Given the description of an element on the screen output the (x, y) to click on. 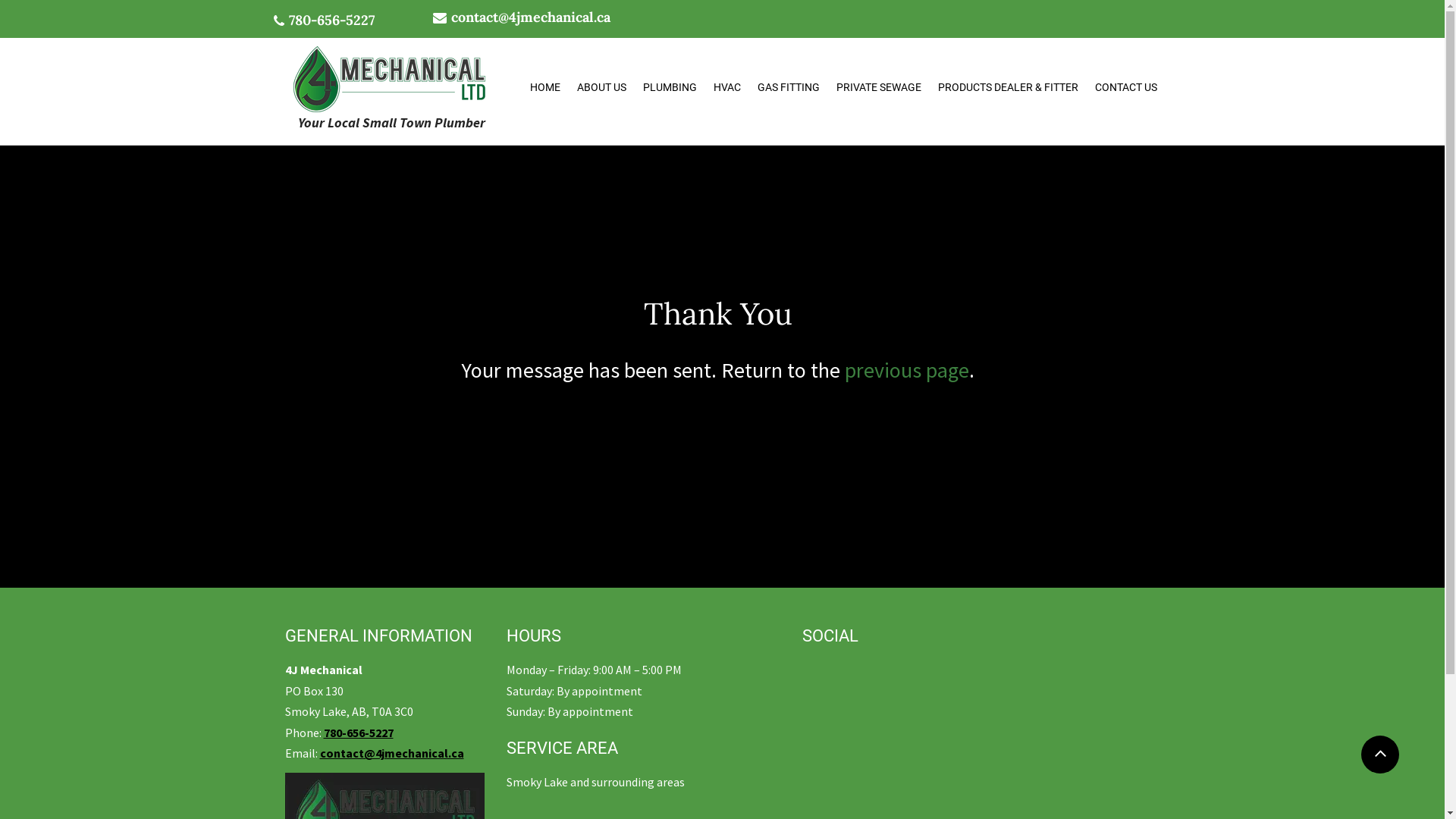
Embedded Content Element type: hover (846, 697)
GAS FITTING Element type: text (788, 88)
PRODUCTS DEALER & FITTER Element type: text (1008, 88)
CONTACT US Element type: text (1125, 88)
ABOUT US Element type: text (601, 88)
HVAC Element type: text (726, 88)
contact@4jmechanical.ca Element type: text (392, 752)
contact@4jmechanical.ca Element type: text (529, 16)
780-656-5227 Element type: text (357, 732)
780-656-5227 Element type: text (330, 22)
HOME Element type: text (545, 88)
PRIVATE SEWAGE Element type: text (878, 88)
Google Maps Element type: hover (1048, 702)
previous page Element type: text (906, 369)
PLUMBING Element type: text (668, 88)
Embedded Content Element type: hover (839, 671)
